Given the description of an element on the screen output the (x, y) to click on. 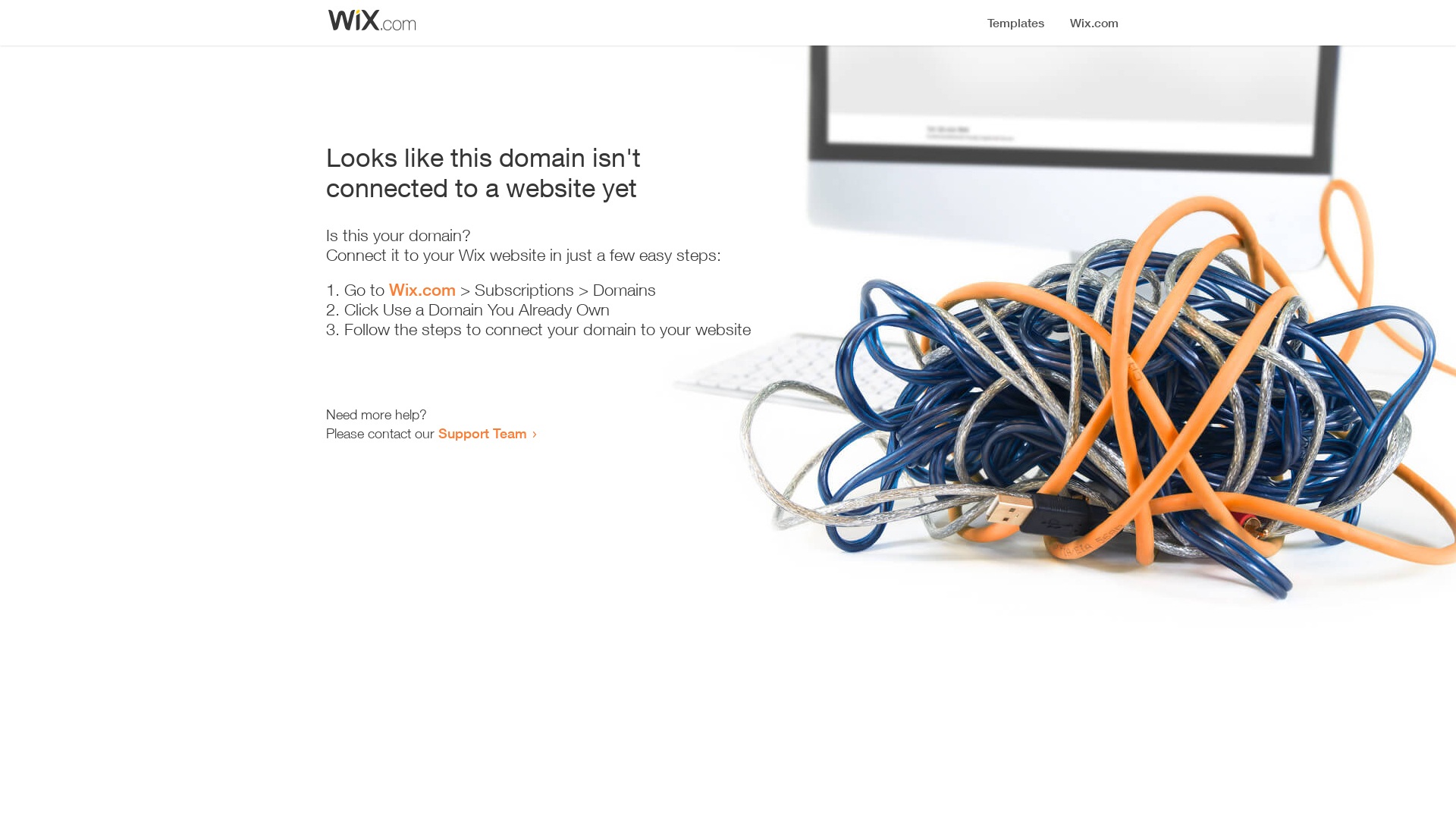
Wix.com Element type: text (422, 289)
Support Team Element type: text (482, 432)
